Given the description of an element on the screen output the (x, y) to click on. 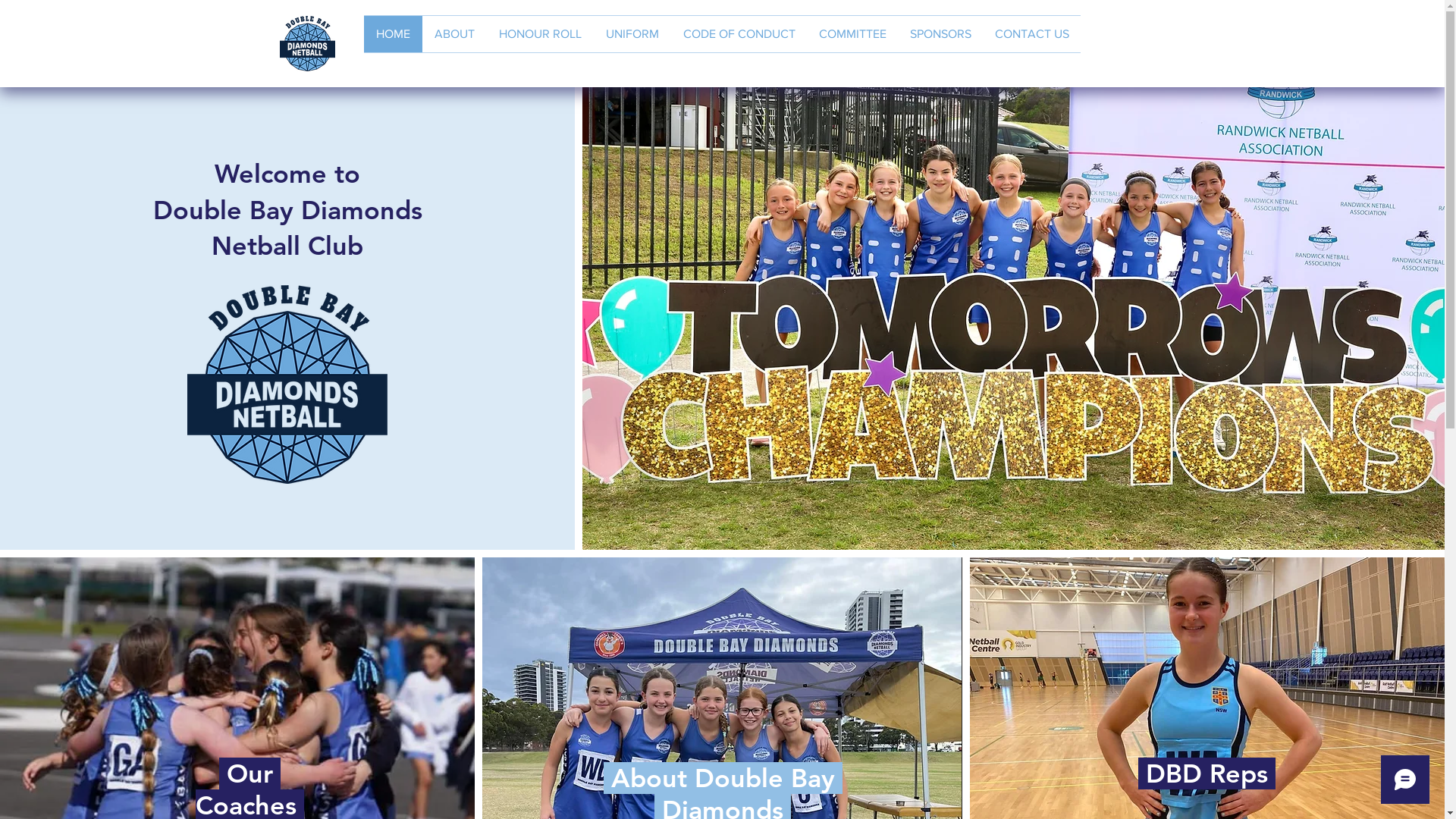
 DBD Reps  Element type: text (1206, 773)
HONOUR ROLL Element type: text (539, 33)
UNIFORM Element type: text (632, 33)
COMMITTEE Element type: text (851, 33)
CODE OF CONDUCT Element type: text (738, 33)
ABOUT Element type: text (454, 33)
HOME Element type: text (393, 33)
CONTACT US Element type: text (1031, 33)
SPONSORS Element type: text (939, 33)
